Given the description of an element on the screen output the (x, y) to click on. 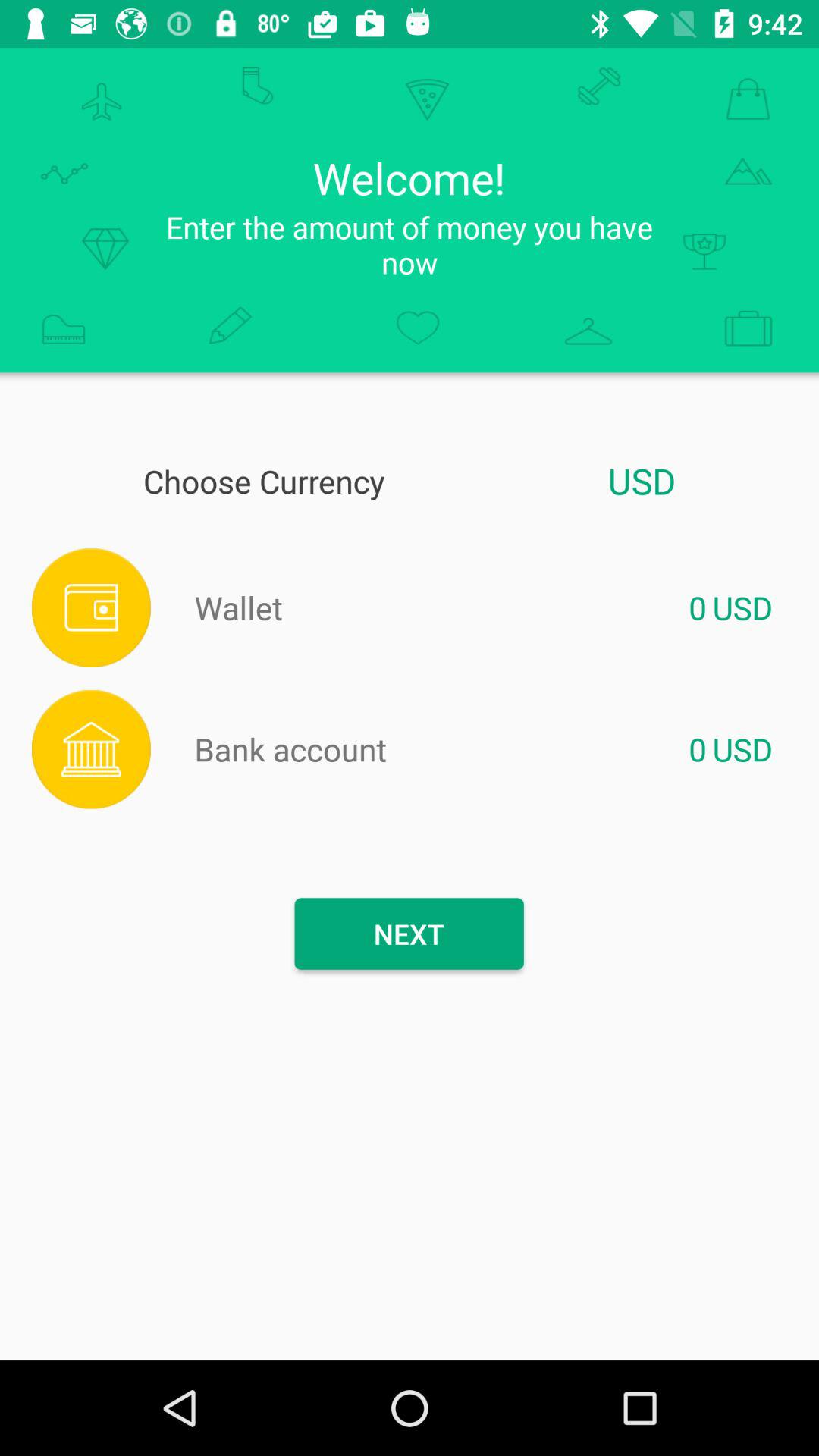
turn off the next (408, 933)
